Given the description of an element on the screen output the (x, y) to click on. 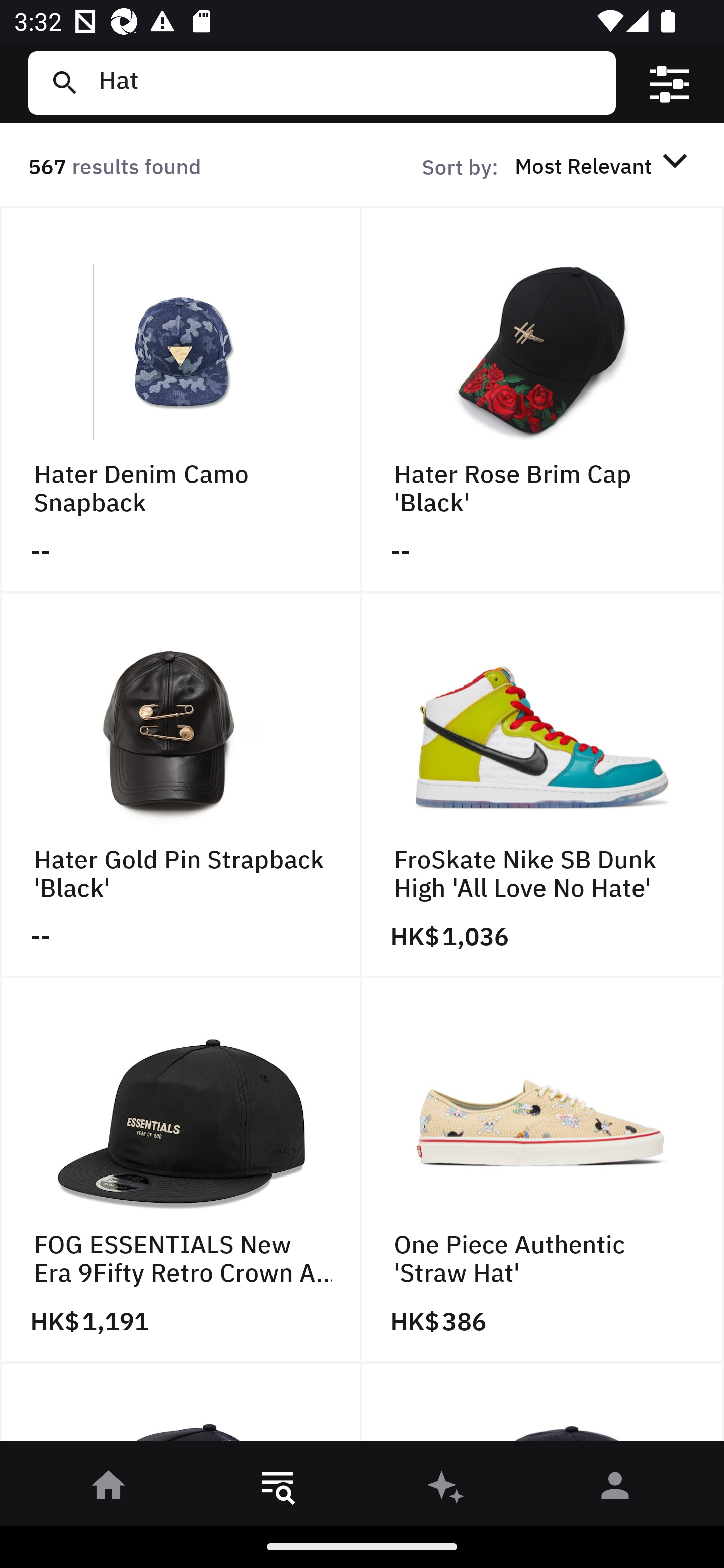
Hat (349, 82)
 (669, 82)
Most Relevant  (604, 165)
Hater Denim Camo Snapback -- (181, 399)
Hater Rose Brim Cap 'Black' -- (543, 399)
Hater Gold Pin Strapback 'Black' -- (181, 785)
One Piece Authentic 'Straw Hat' HK$ 386 (543, 1171)
󰋜 (108, 1488)
󱎸 (277, 1488)
󰫢 (446, 1488)
󰀄 (615, 1488)
